Given the description of an element on the screen output the (x, y) to click on. 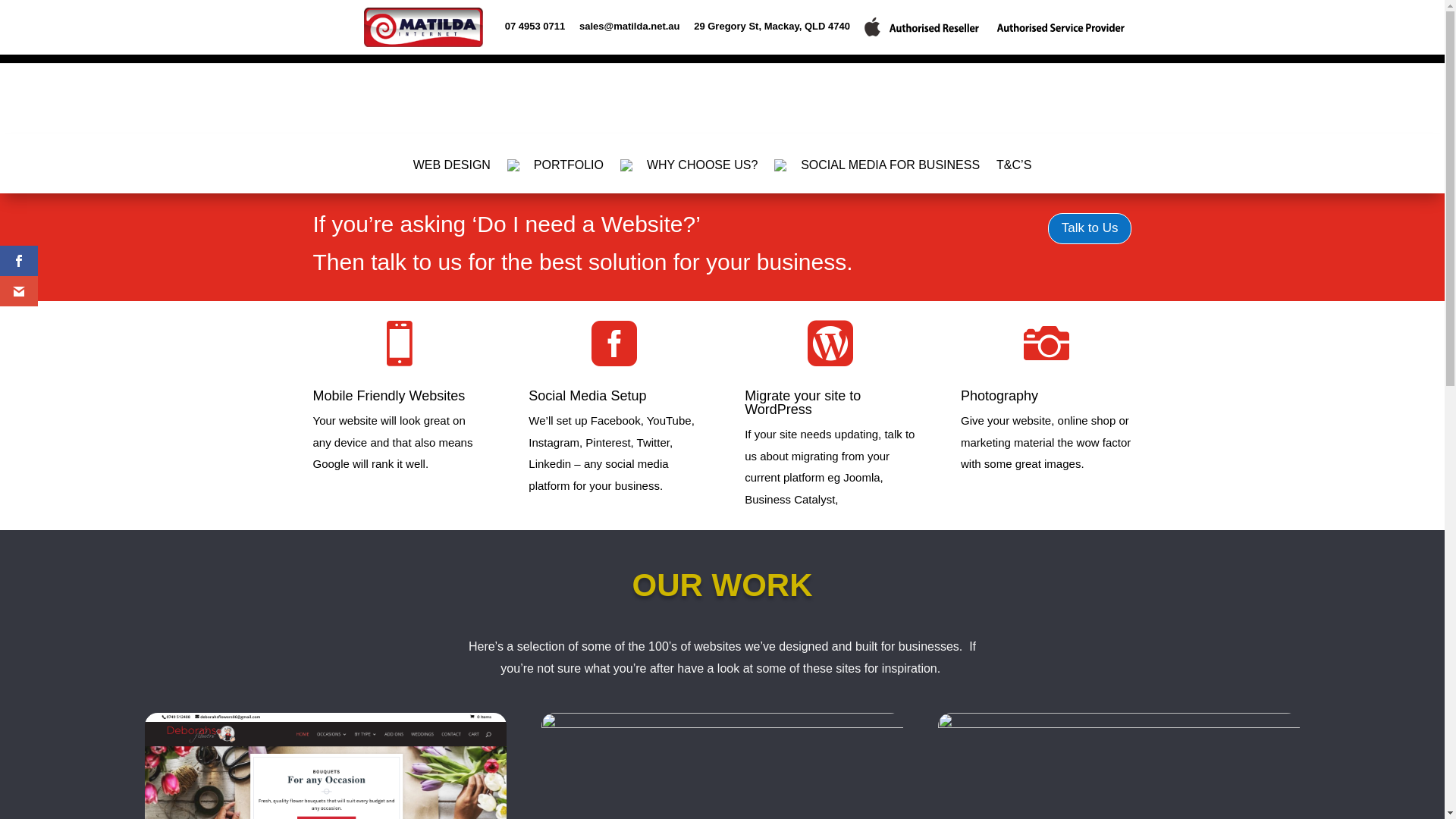
29 Gregory St, Mackay, QLD 4740 Element type: text (771, 29)
07 4953 0711 Element type: text (535, 29)
Talk to Us Element type: text (1090, 228)
  PORTFOLIO Element type: text (555, 176)
Shop Element type: text (502, 50)
Repairs Element type: text (449, 50)
FAQs Element type: text (1000, 50)
Members Element type: text (935, 50)
  WHY CHOOSE US? Element type: text (688, 176)
WEB DESIGN Element type: text (451, 176)
Contact Element type: text (864, 50)
Digital Marketing & Web Design Element type: text (674, 50)
Education Element type: text (799, 50)
  SOCIAL MEDIA FOR BUSINESS Element type: text (876, 176)
Internet Element type: text (555, 50)
sales@matilda.net.au Element type: text (629, 29)
